Given the description of an element on the screen output the (x, y) to click on. 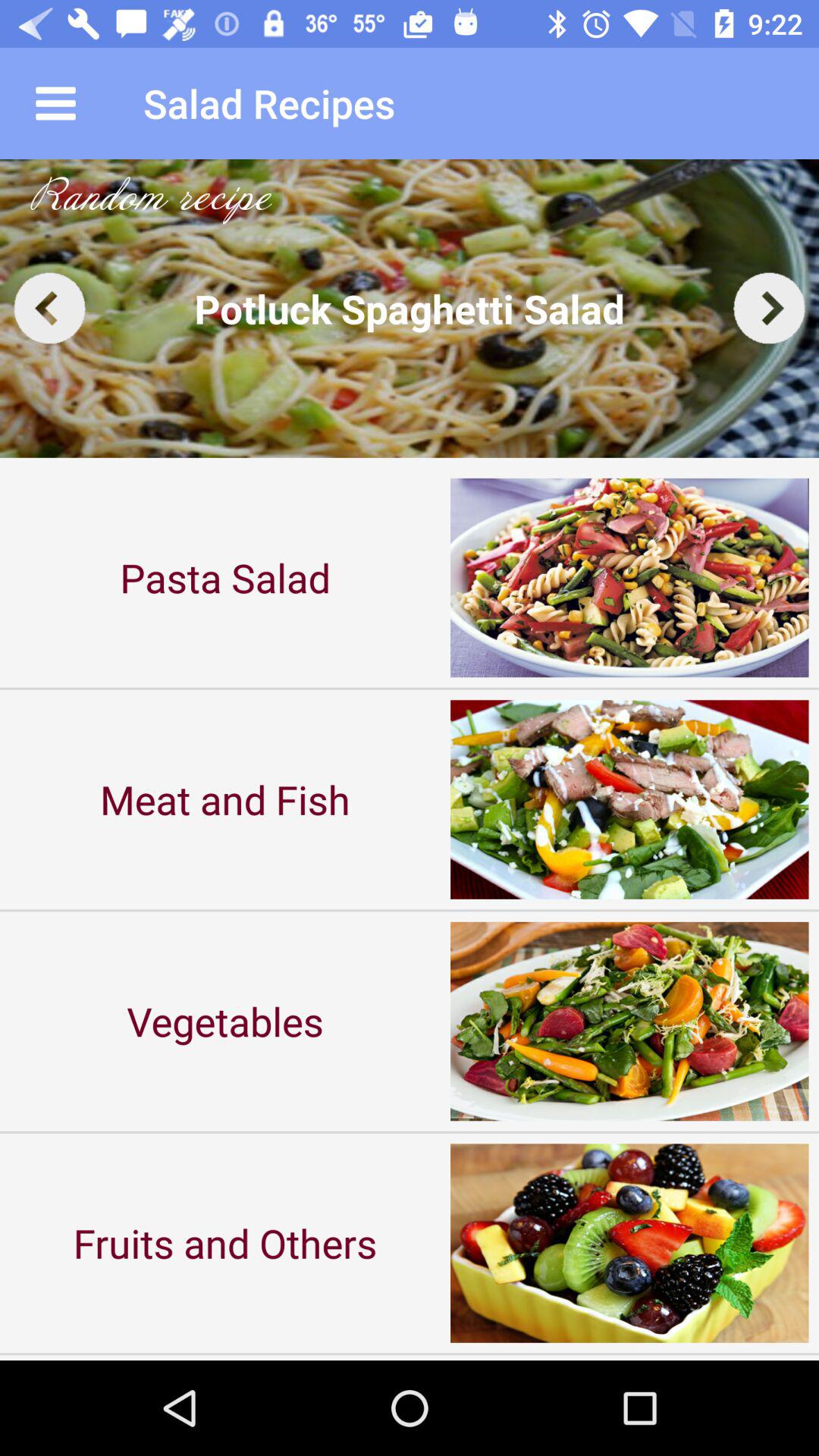
open pasta salad icon (225, 577)
